Given the description of an element on the screen output the (x, y) to click on. 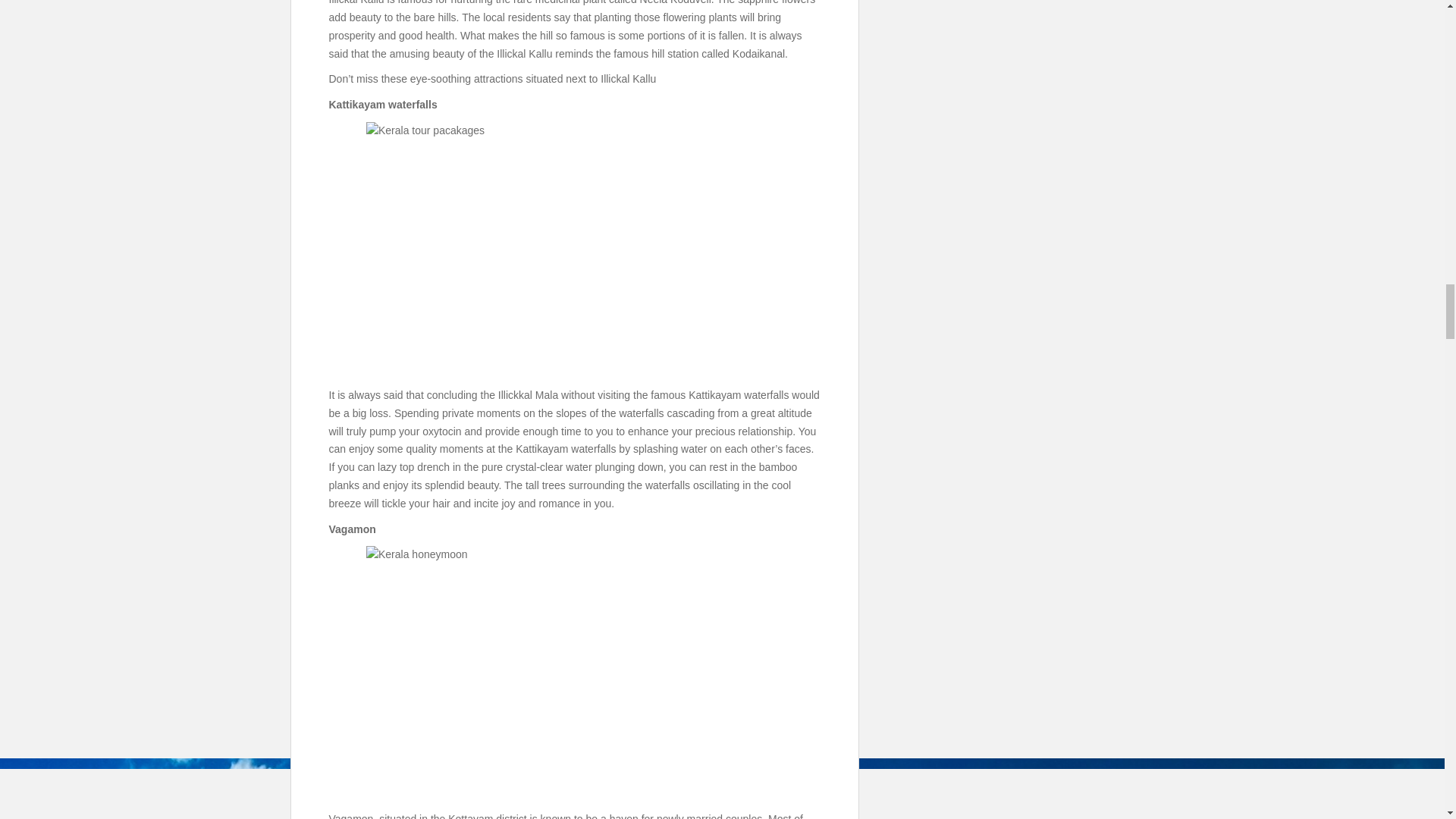
Vagamon (574, 674)
Kattikayam waterfalls (574, 250)
